Given the description of an element on the screen output the (x, y) to click on. 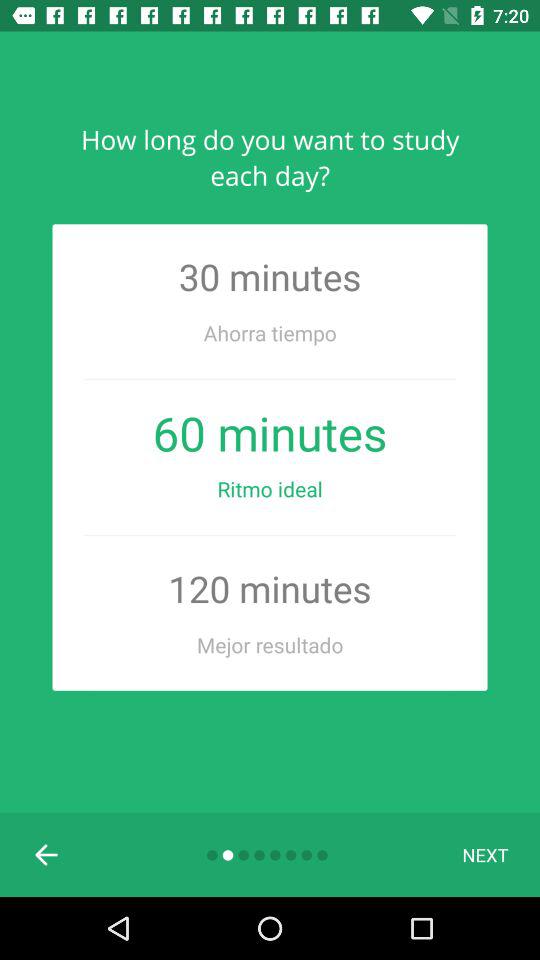
go back (47, 855)
